Given the description of an element on the screen output the (x, y) to click on. 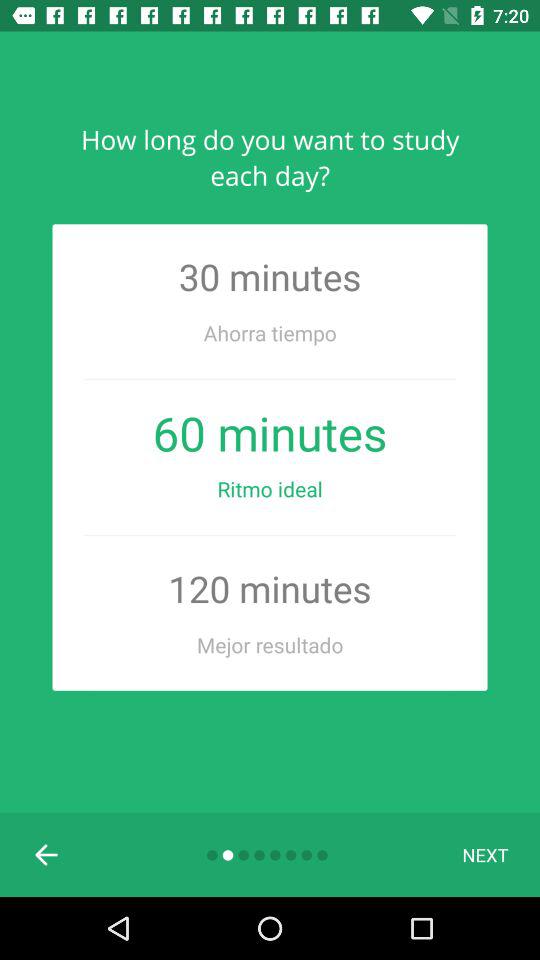
go back (47, 855)
